Given the description of an element on the screen output the (x, y) to click on. 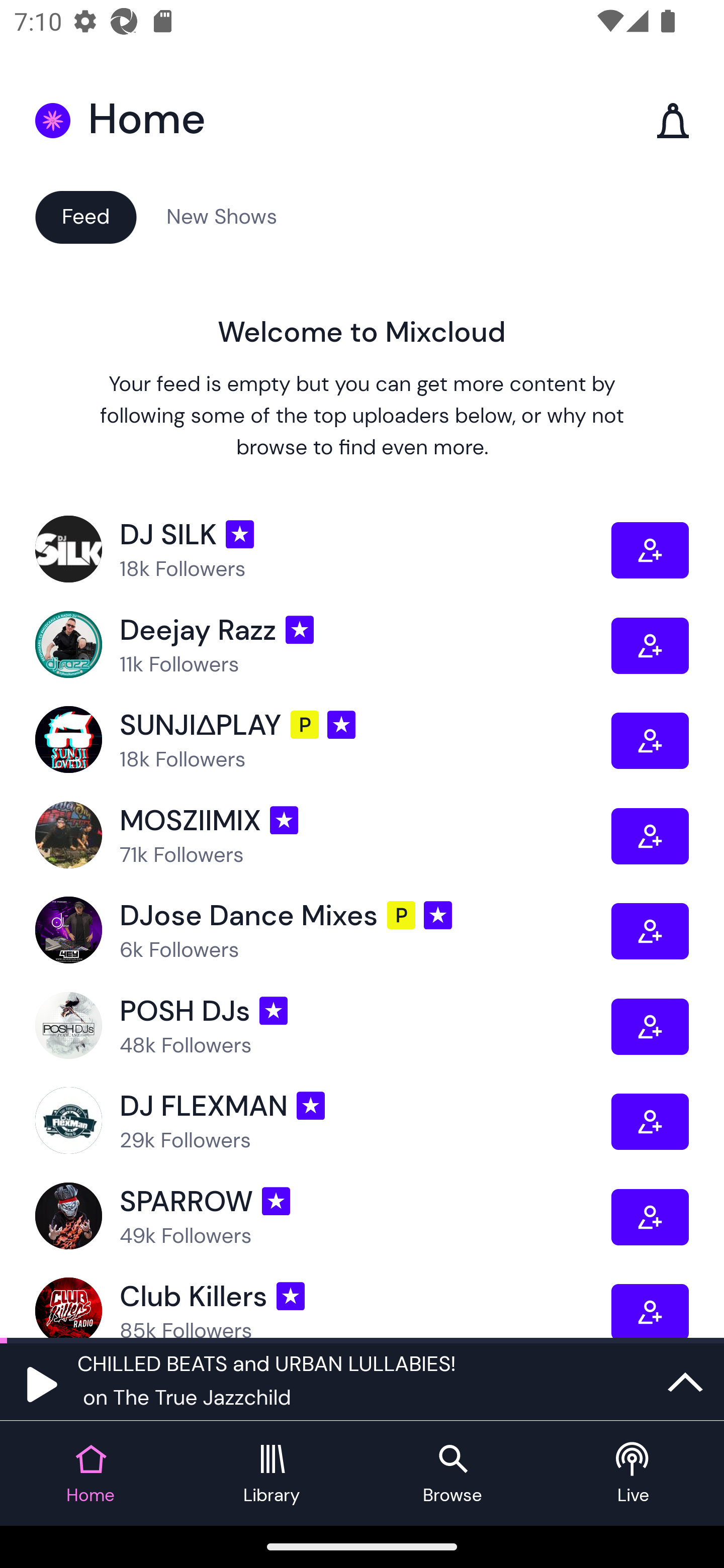
Feed (85, 216)
New Shows (221, 216)
DJ SILK, 18k Followers DJ SILK 18k Followers (323, 549)
Follow (649, 550)
Follow (649, 645)
SUNJI∆PLAY, 18k Followers SUNJI∆PLAY 18k Followers (323, 739)
Follow (649, 739)
MOSZIIMIX, 71k Followers MOSZIIMIX 71k Followers (323, 835)
Follow (649, 835)
Follow (649, 931)
POSH DJs, 48k Followers POSH DJs 48k Followers (323, 1026)
Follow (649, 1026)
DJ FLEXMAN, 29k Followers DJ FLEXMAN 29k Followers (323, 1120)
Follow (649, 1120)
SPARROW, 49k Followers SPARROW 49k Followers (323, 1216)
Follow (649, 1216)
Follow (649, 1310)
Home tab Home (90, 1473)
Library tab Library (271, 1473)
Browse tab Browse (452, 1473)
Live tab Live (633, 1473)
